Given the description of an element on the screen output the (x, y) to click on. 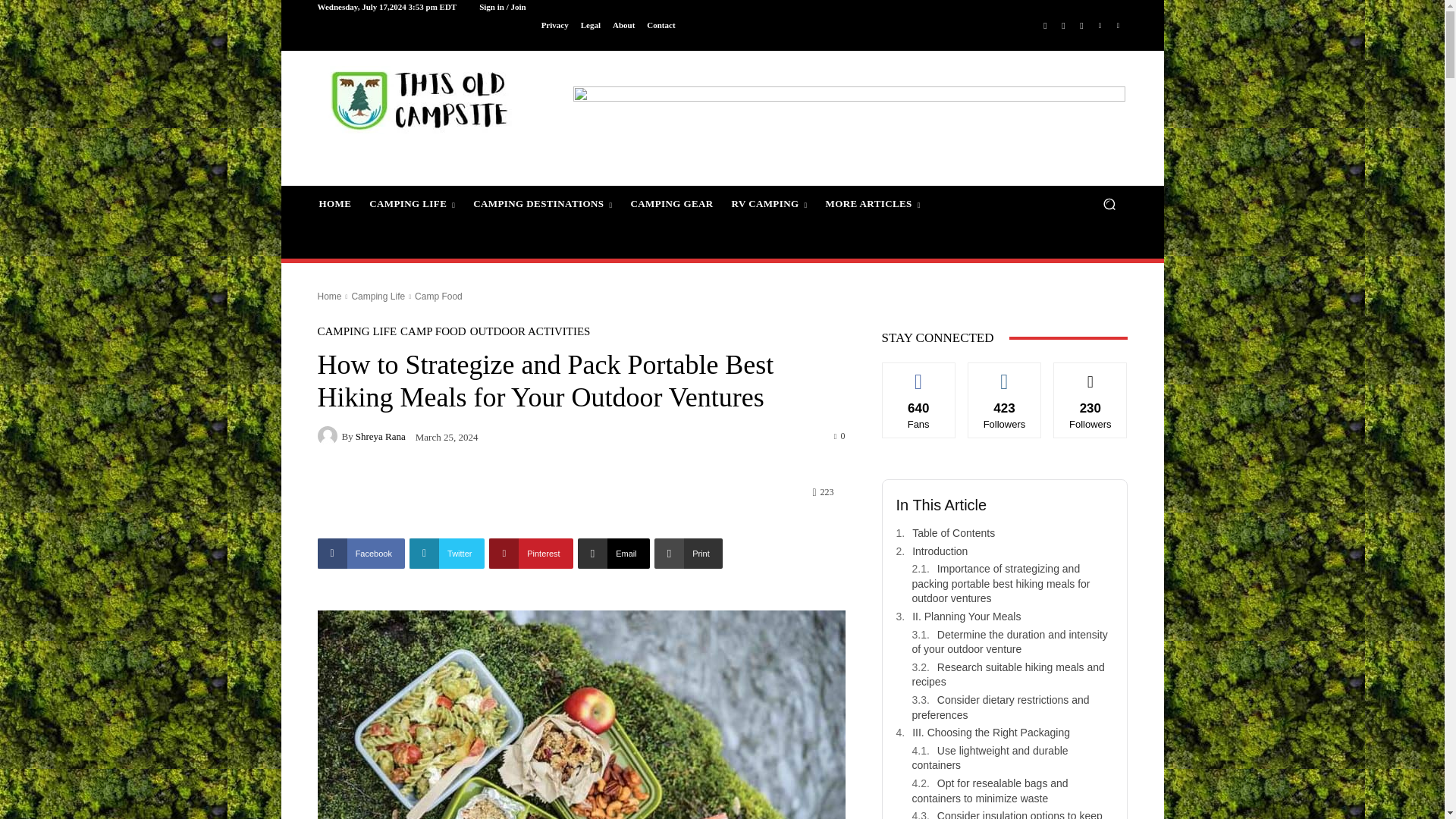
Twitter (1062, 25)
Facebook (1044, 25)
Pinterest (1099, 25)
Instagram (1080, 25)
